Given the description of an element on the screen output the (x, y) to click on. 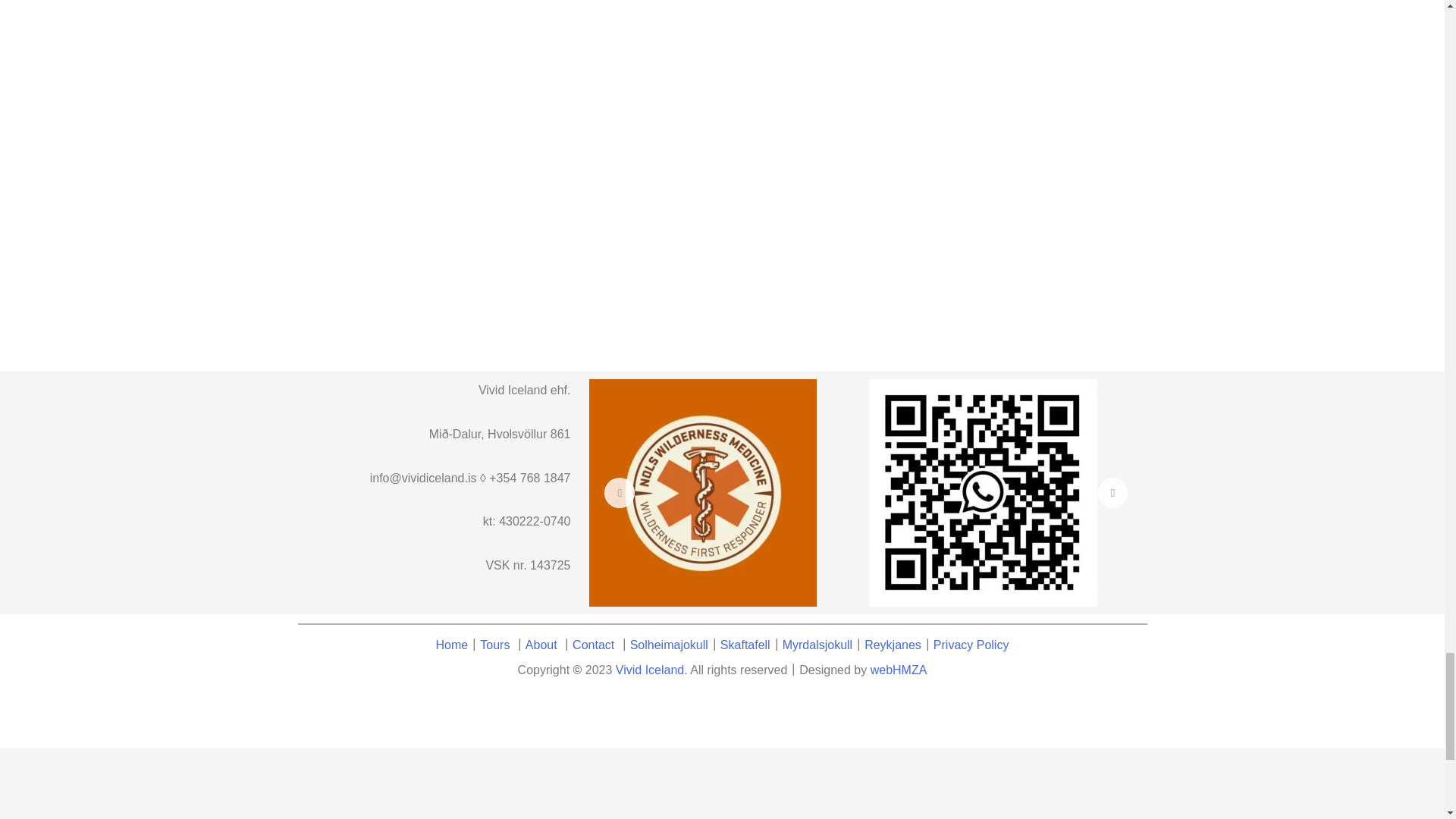
Contact  (594, 644)
Home (451, 644)
About (541, 644)
Tours (494, 644)
